Given the description of an element on the screen output the (x, y) to click on. 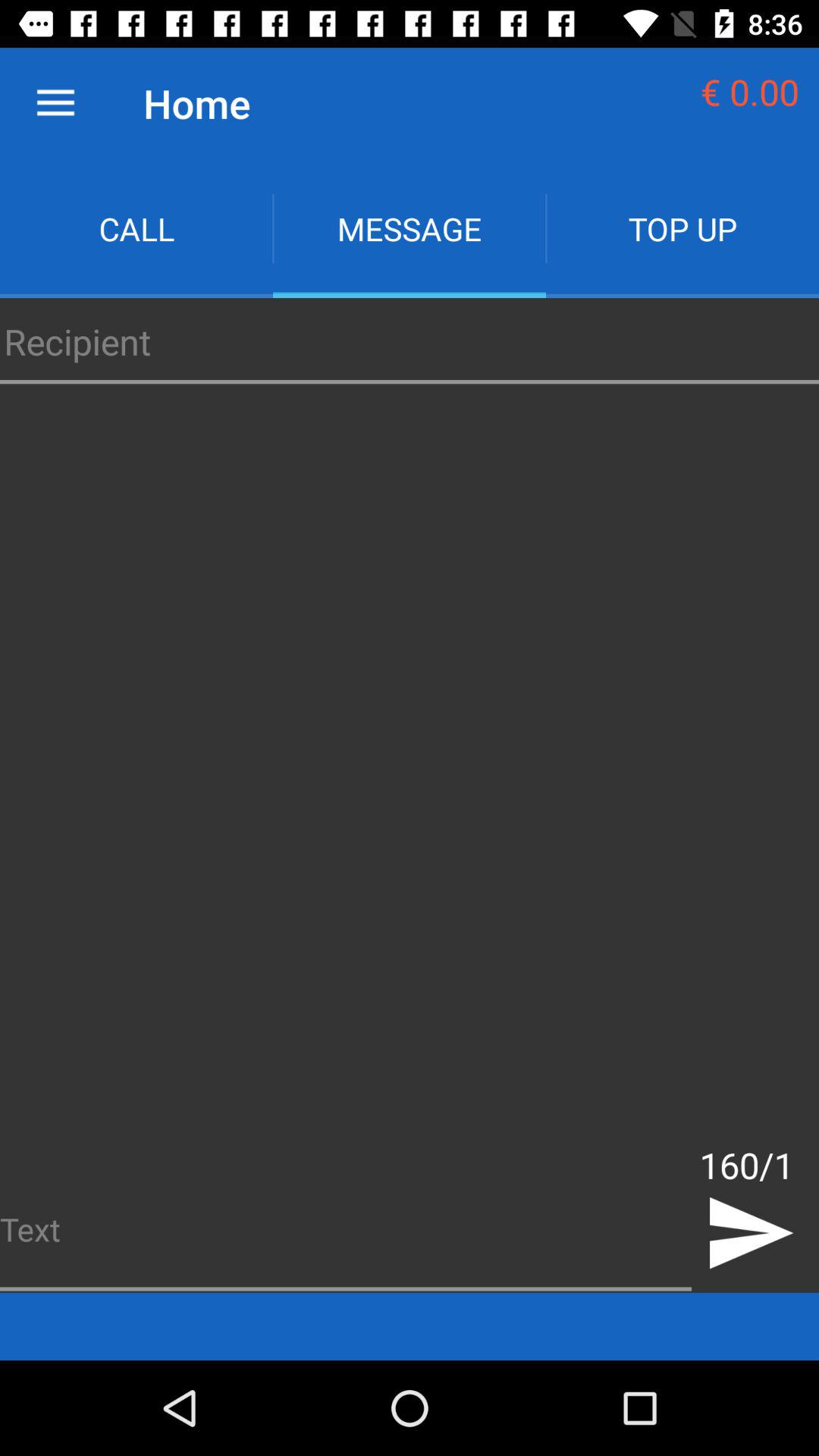
open the item next to call (409, 228)
